Given the description of an element on the screen output the (x, y) to click on. 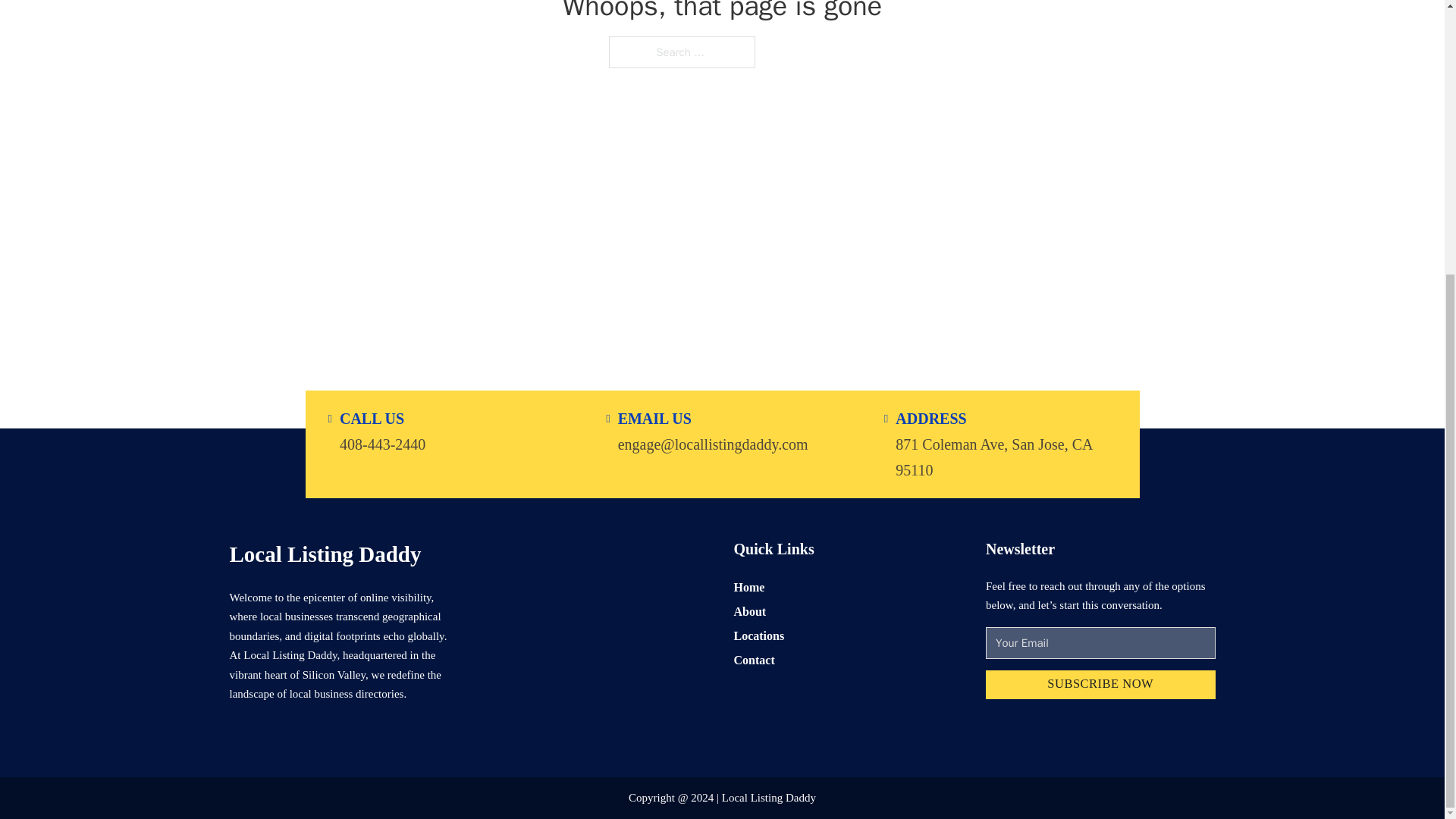
Local Listing Daddy (324, 553)
Home (749, 586)
About (750, 611)
408-443-2440 (382, 443)
Locations (758, 635)
Contact (753, 660)
SUBSCRIBE NOW (1100, 685)
